Given the description of an element on the screen output the (x, y) to click on. 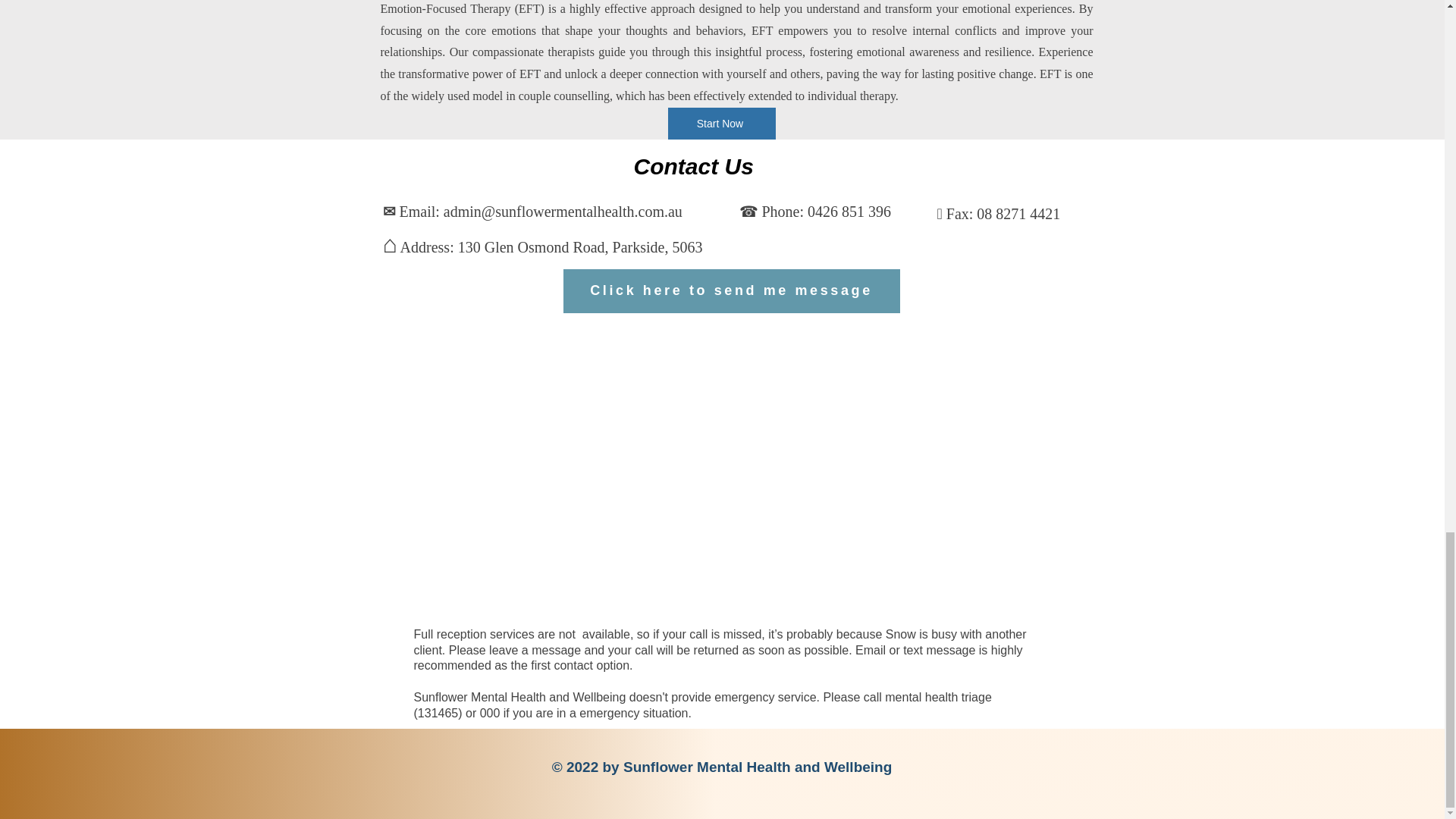
Start Now (720, 123)
Click here to send me message (730, 290)
